Given the description of an element on the screen output the (x, y) to click on. 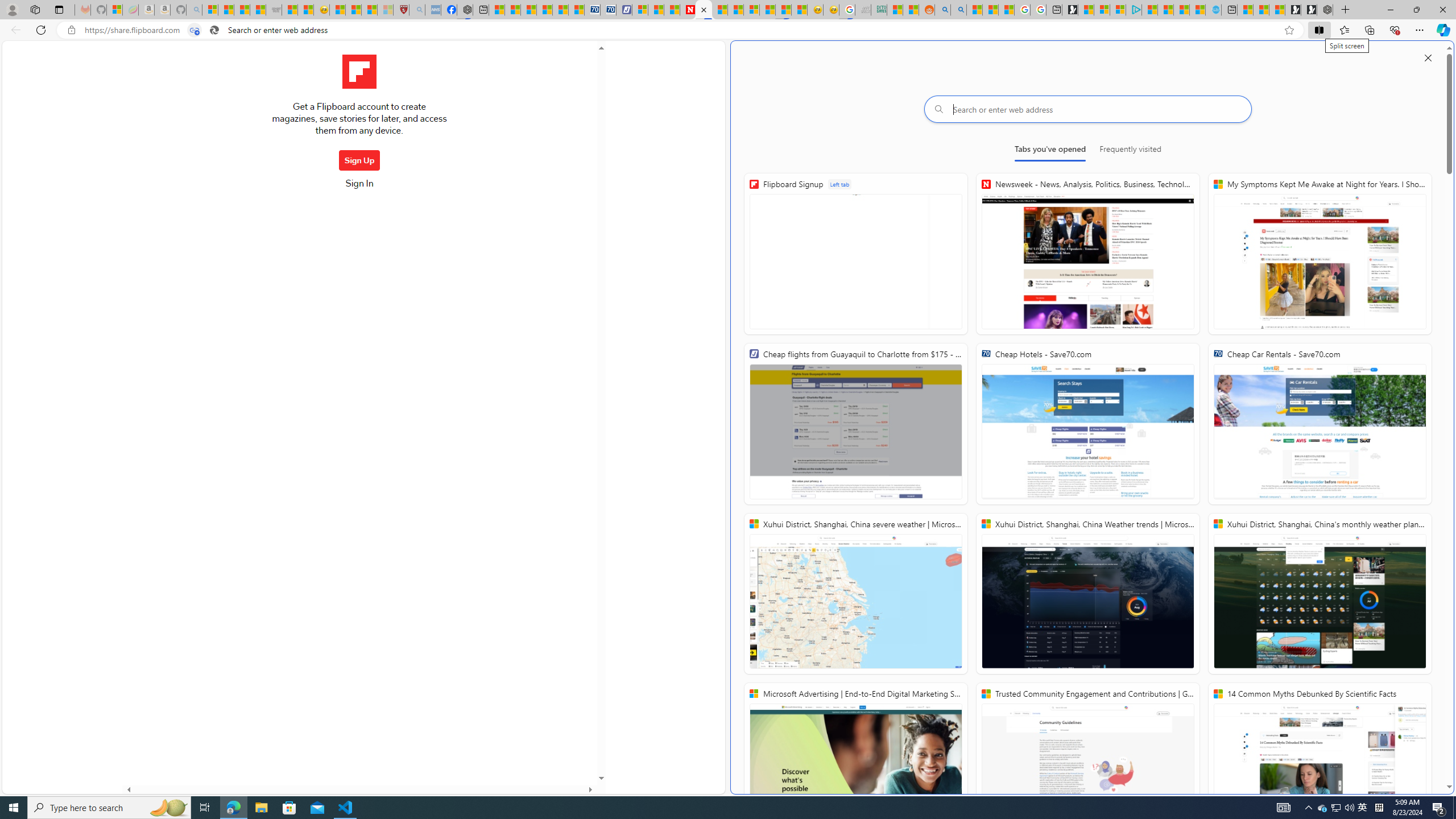
Cheap Hotels - Save70.com (608, 9)
Nordace - Nordace Siena Is Not An Ordinary Backpack (1324, 9)
